Given the description of an element on the screen output the (x, y) to click on. 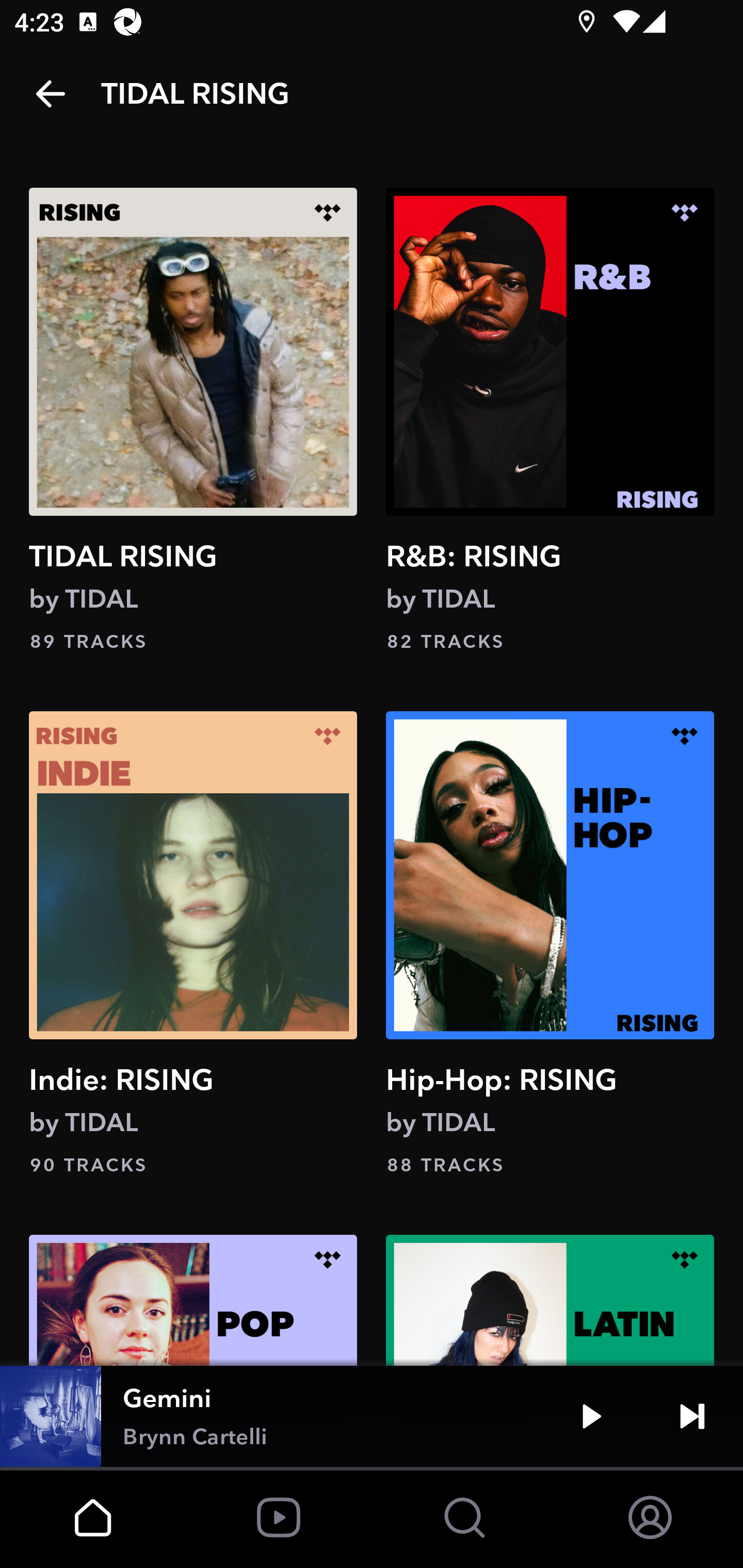
TIDAL RISING by TIDAL 89 TRACKS (192, 420)
R&B: RISING by TIDAL 82 TRACKS (549, 420)
Indie: RISING by TIDAL 90 TRACKS (192, 944)
Hip-Hop: RISING by TIDAL 88 TRACKS (549, 944)
Gemini Brynn Cartelli Play (371, 1416)
Play (590, 1416)
